Given the description of an element on the screen output the (x, y) to click on. 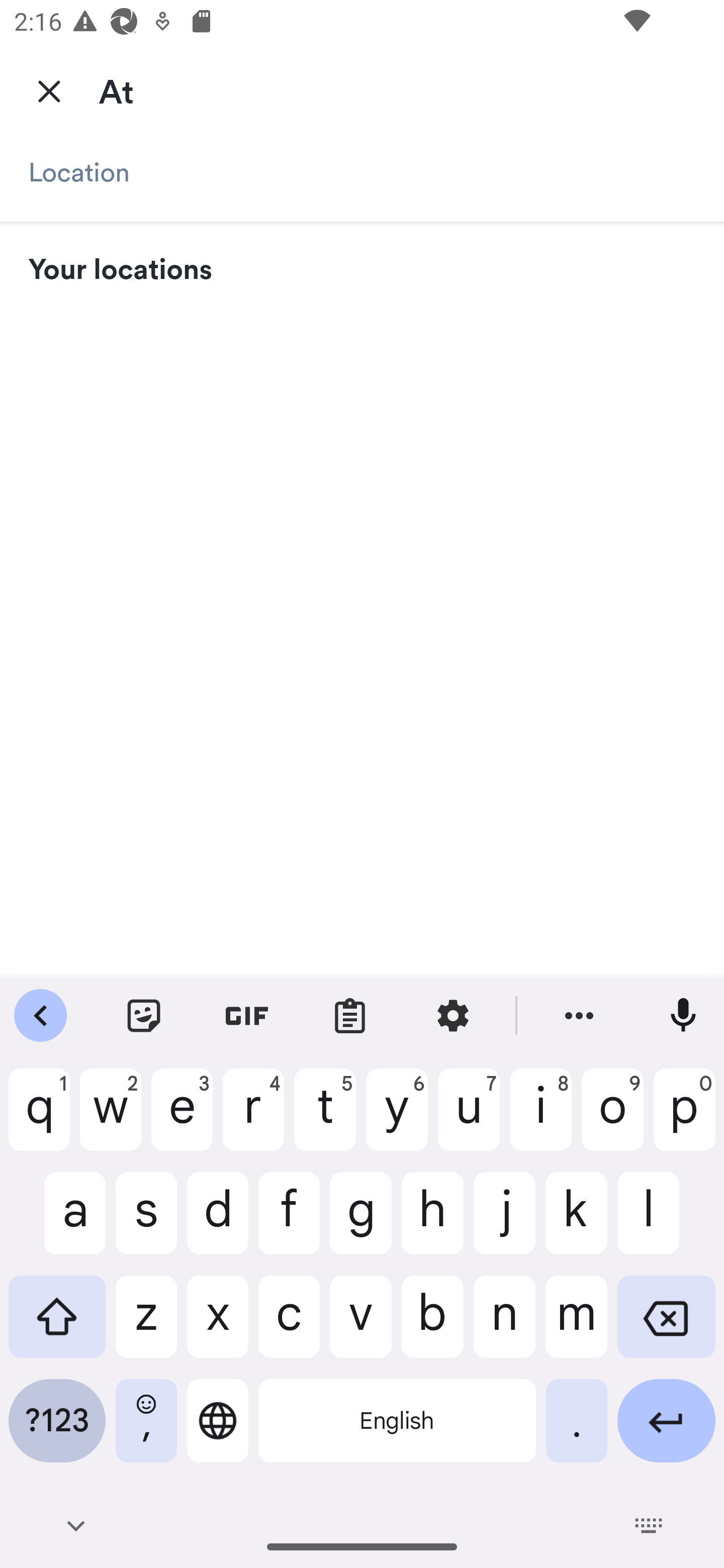
Navigate up (49, 90)
